Given the description of an element on the screen output the (x, y) to click on. 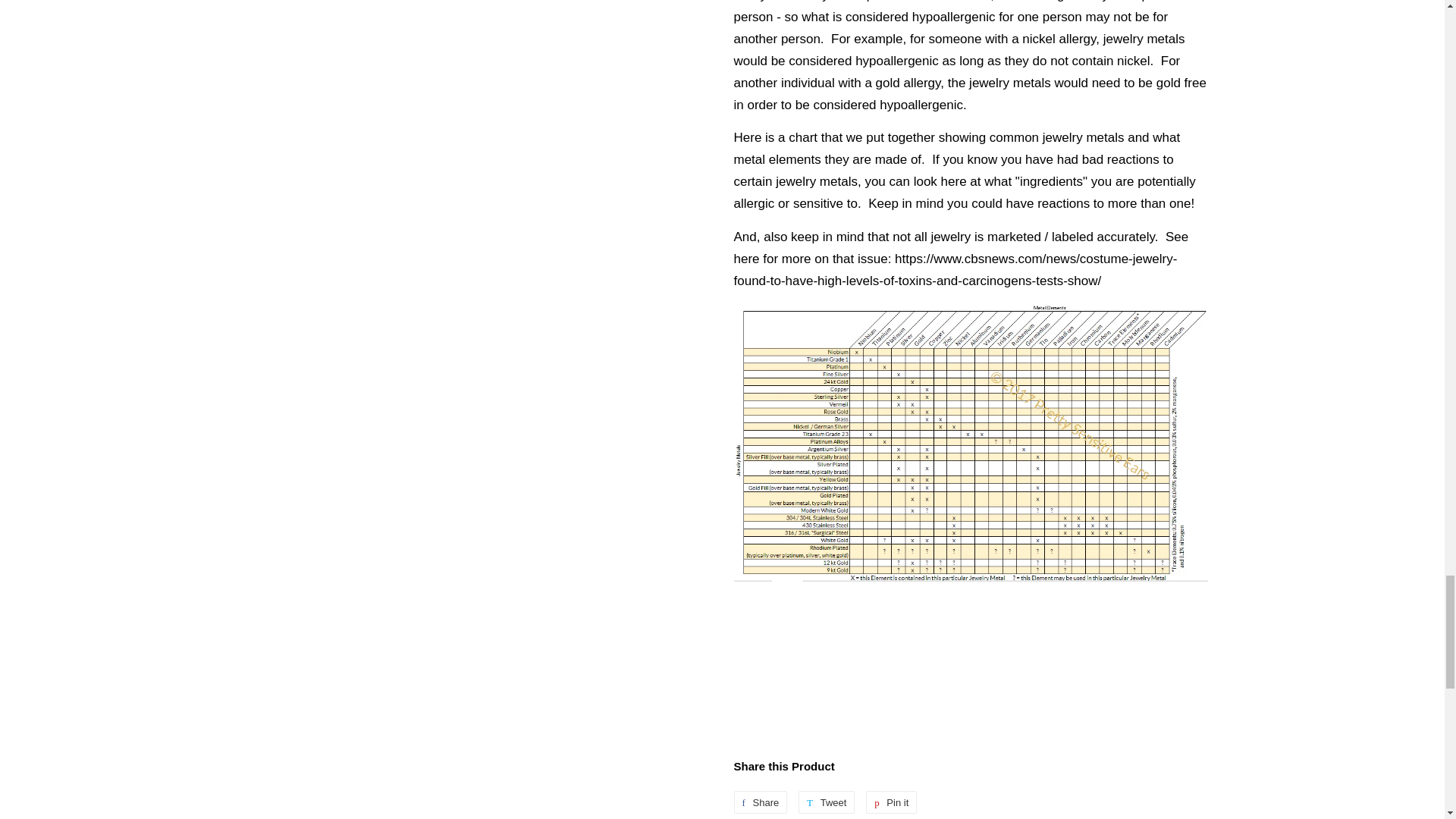
Share on Facebook (760, 802)
Tweet on Twitter (825, 802)
Pin on Pinterest (891, 802)
